Given the description of an element on the screen output the (x, y) to click on. 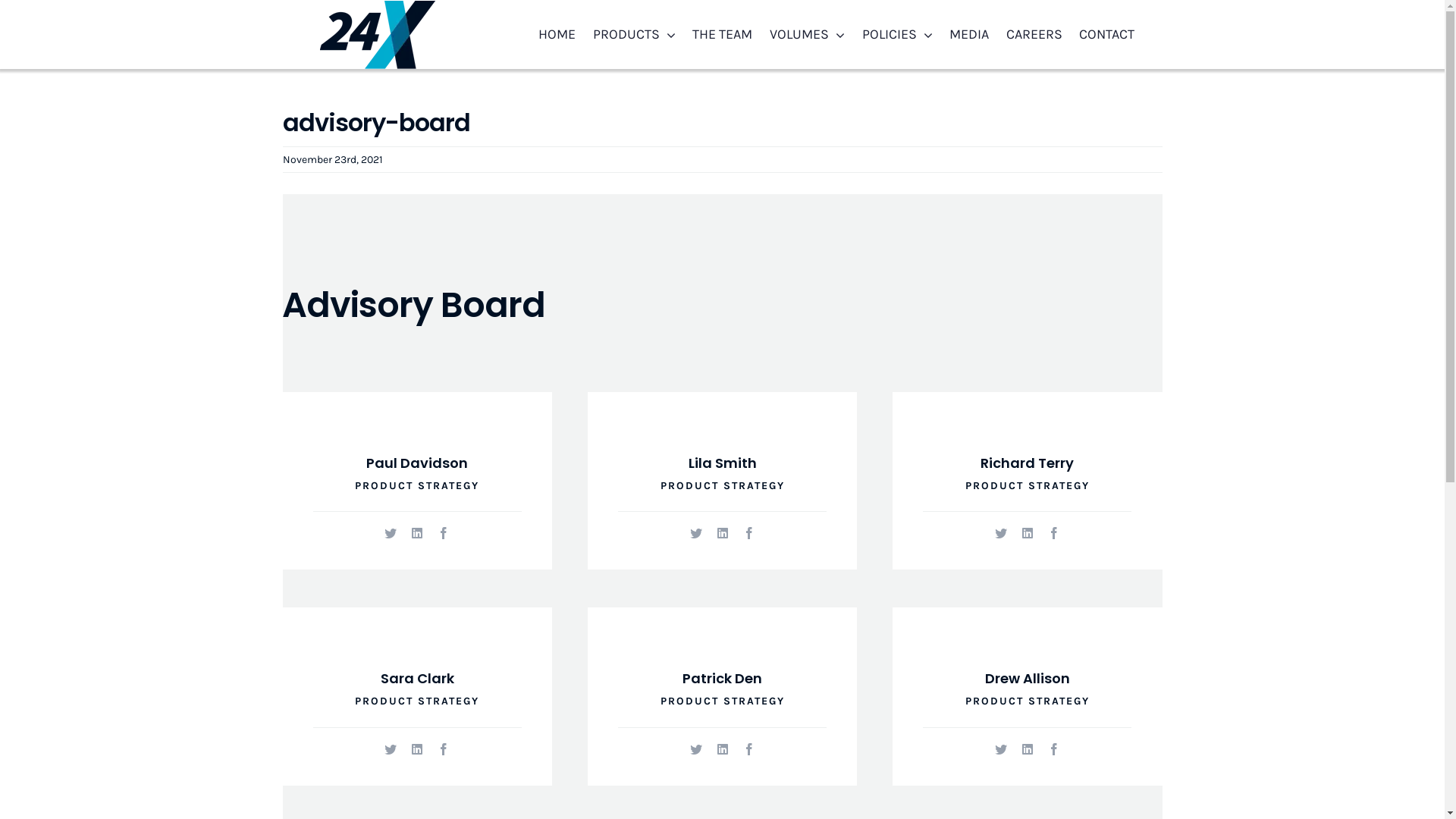
THE TEAM Element type: text (722, 34)
MEDIA Element type: text (968, 34)
CAREERS Element type: text (1034, 34)
VOLUMES Element type: text (806, 34)
PRODUCTS Element type: text (634, 34)
POLICIES Element type: text (896, 34)
HOME Element type: text (556, 34)
CONTACT Element type: text (1106, 34)
